Given the description of an element on the screen output the (x, y) to click on. 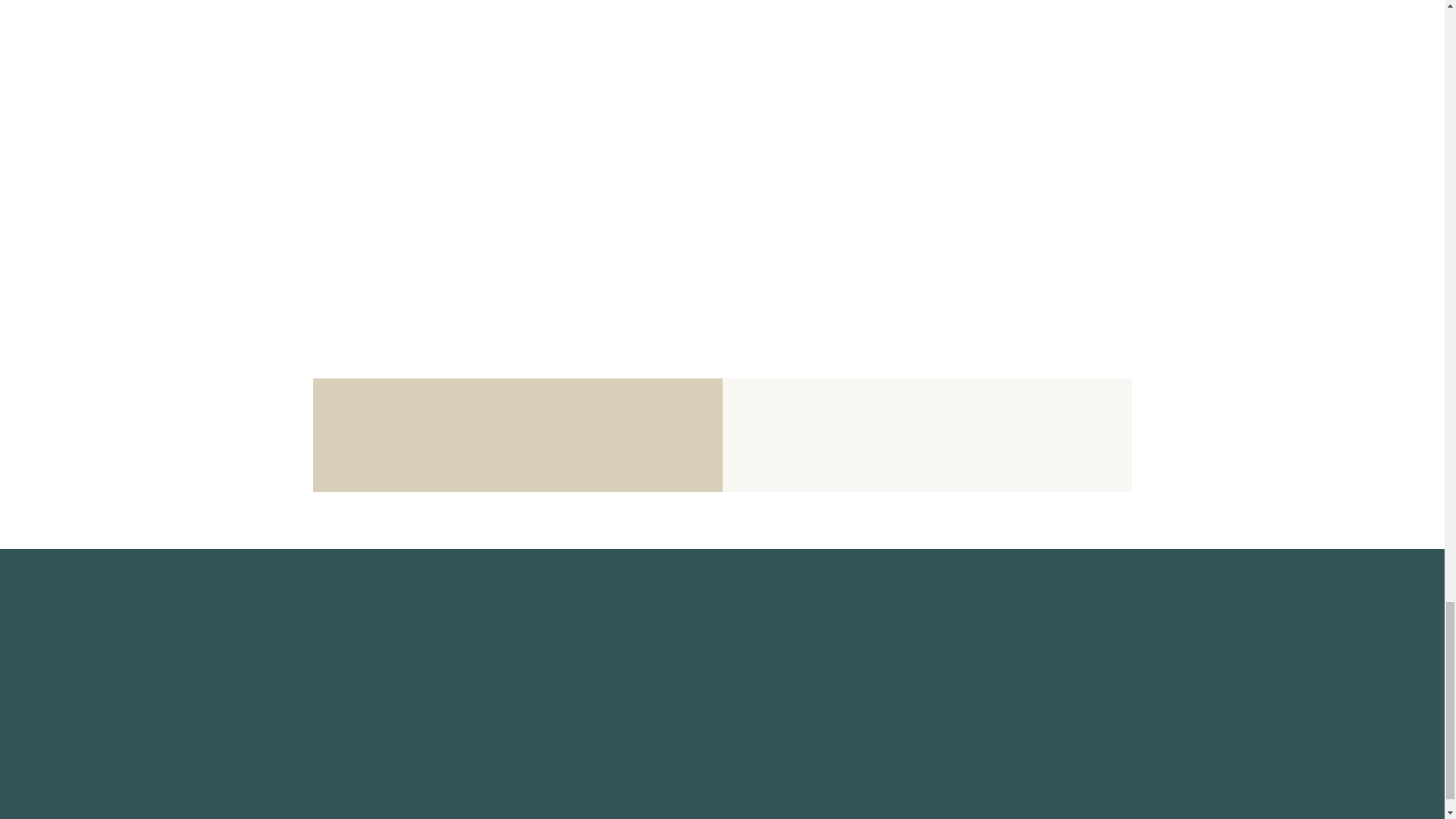
MEDIA (337, 619)
ABOUT MRWA (363, 597)
true (617, 516)
WORK (335, 729)
WE SUPPORT LOCALS (390, 707)
